Given the description of an element on the screen output the (x, y) to click on. 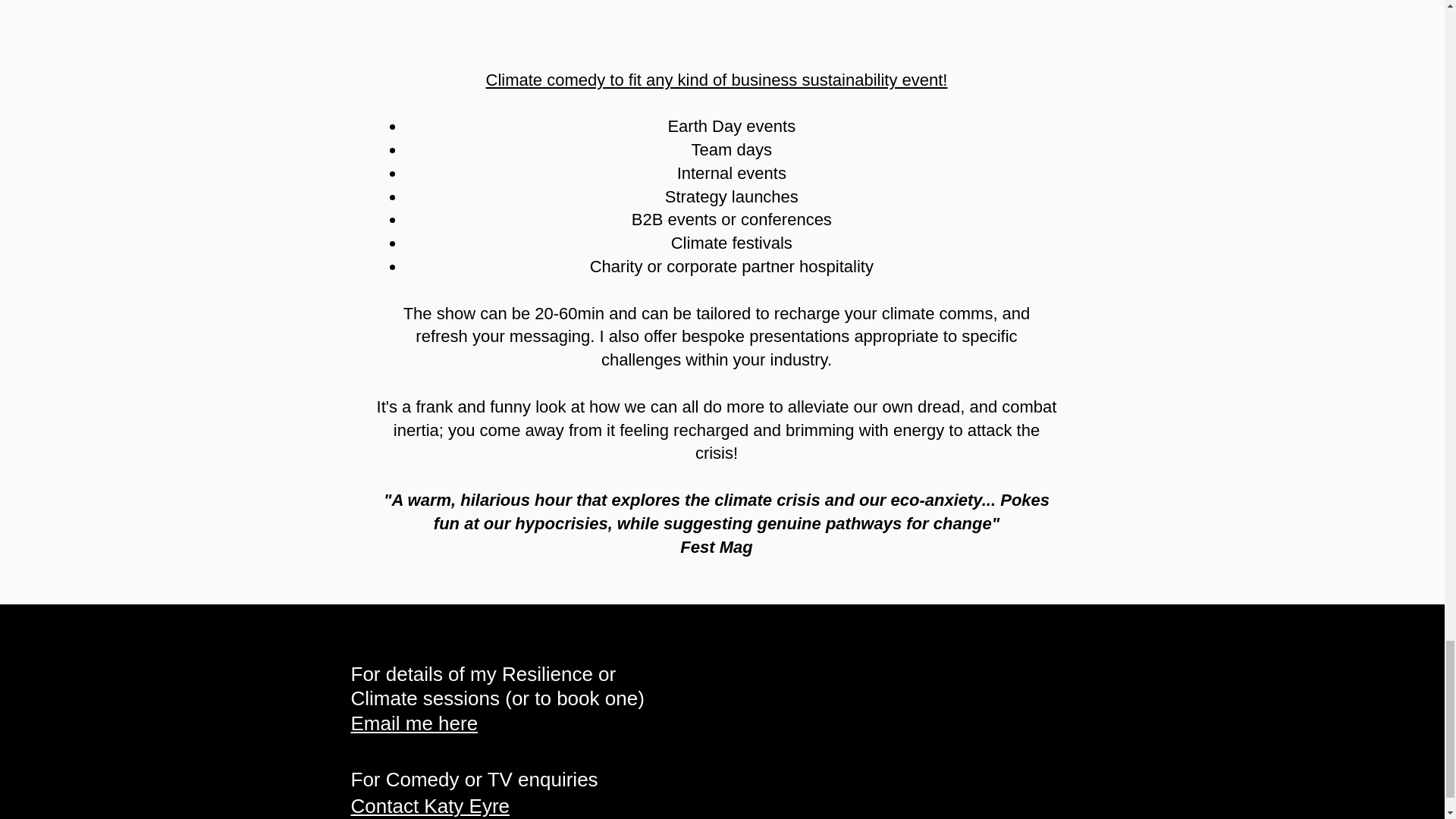
Email me here (413, 722)
Contact Katy Eyre (429, 805)
